Given the description of an element on the screen output the (x, y) to click on. 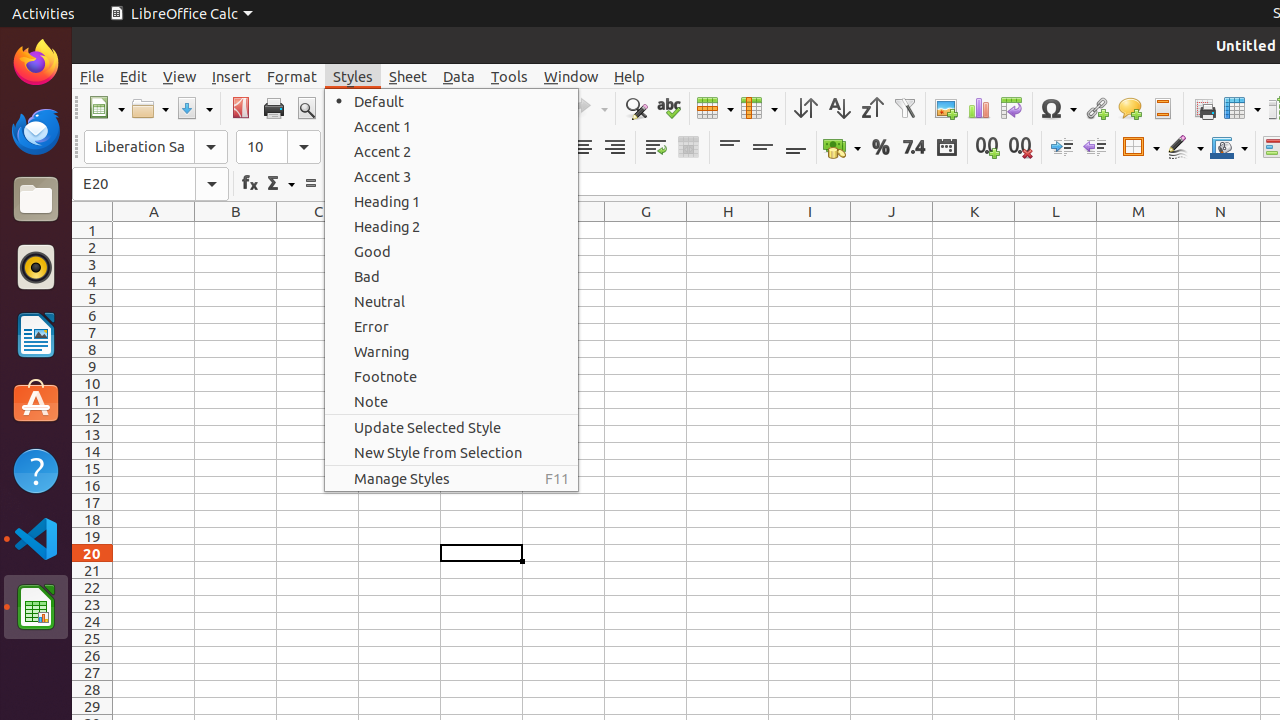
LibreOffice Calc Element type: push-button (36, 607)
Note Element type: radio-menu-item (451, 401)
Freeze Rows and Columns Element type: push-button (1242, 108)
Default Element type: radio-menu-item (451, 101)
AutoFilter Element type: push-button (904, 108)
